Given the description of an element on the screen output the (x, y) to click on. 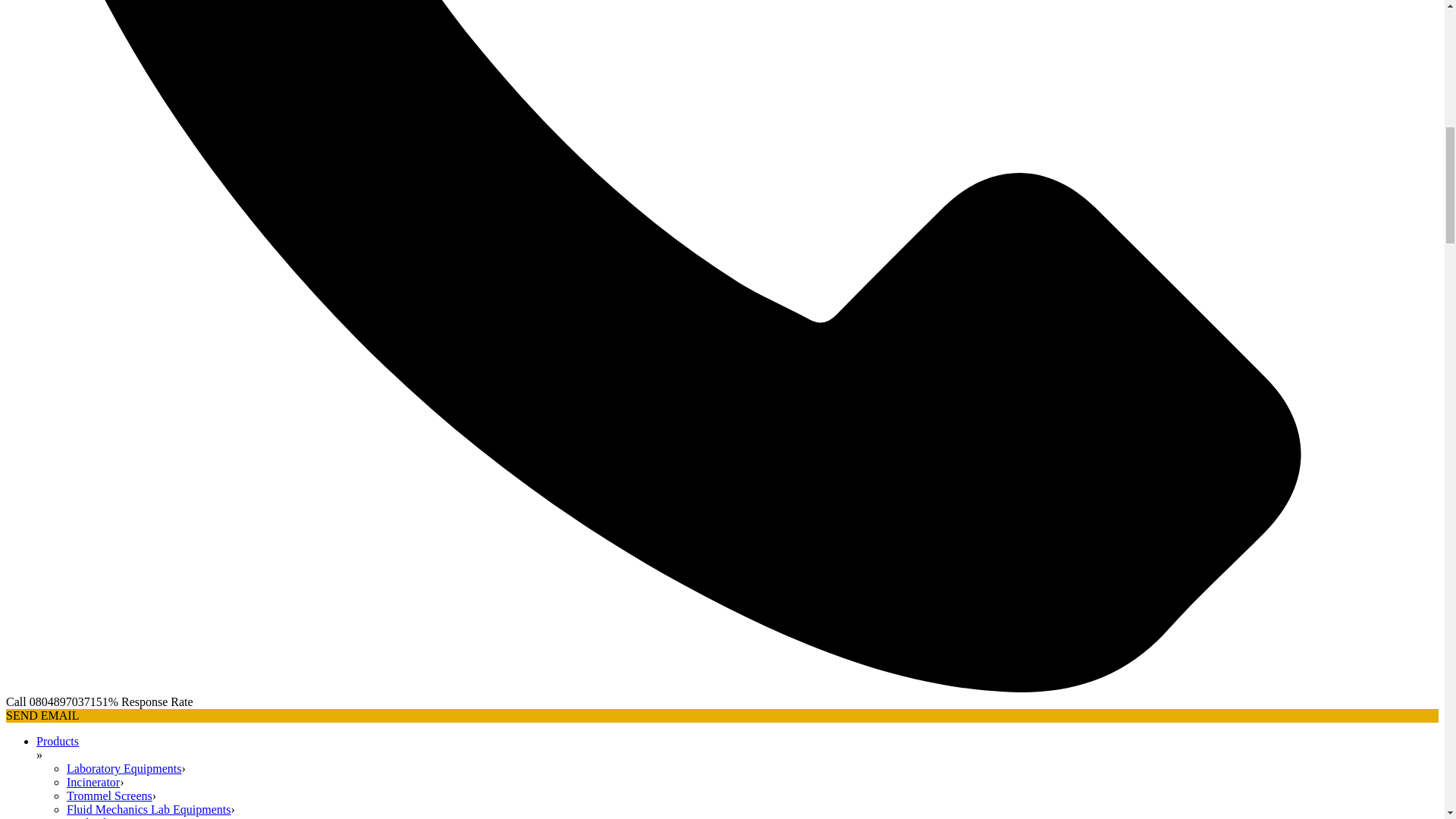
Fluid Mechanics Lab Equipments (148, 809)
Trommel Screens (109, 795)
Incinerator (92, 781)
Medical Equipment (114, 817)
Products (57, 740)
Laboratory Equipments (124, 768)
